Given the description of an element on the screen output the (x, y) to click on. 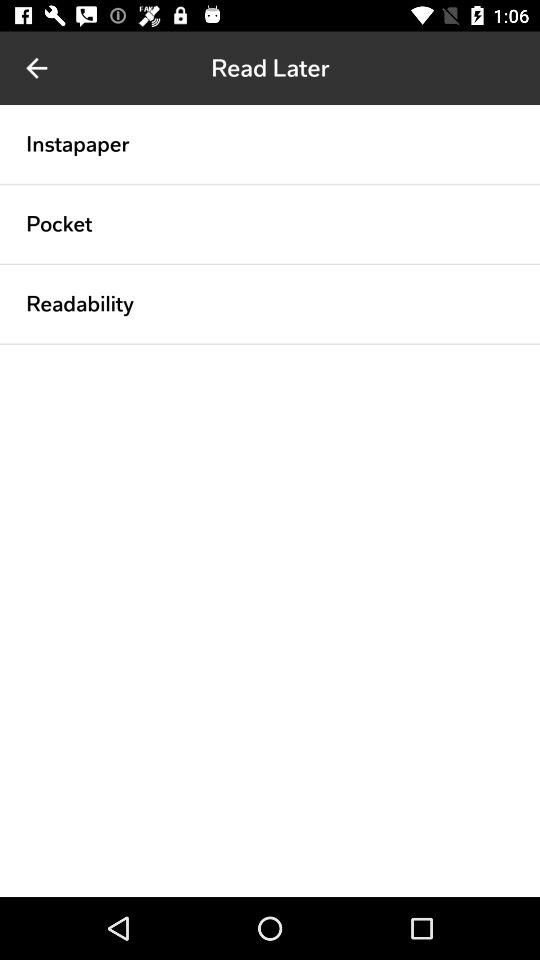
select icon below readability icon (270, 344)
